Given the description of an element on the screen output the (x, y) to click on. 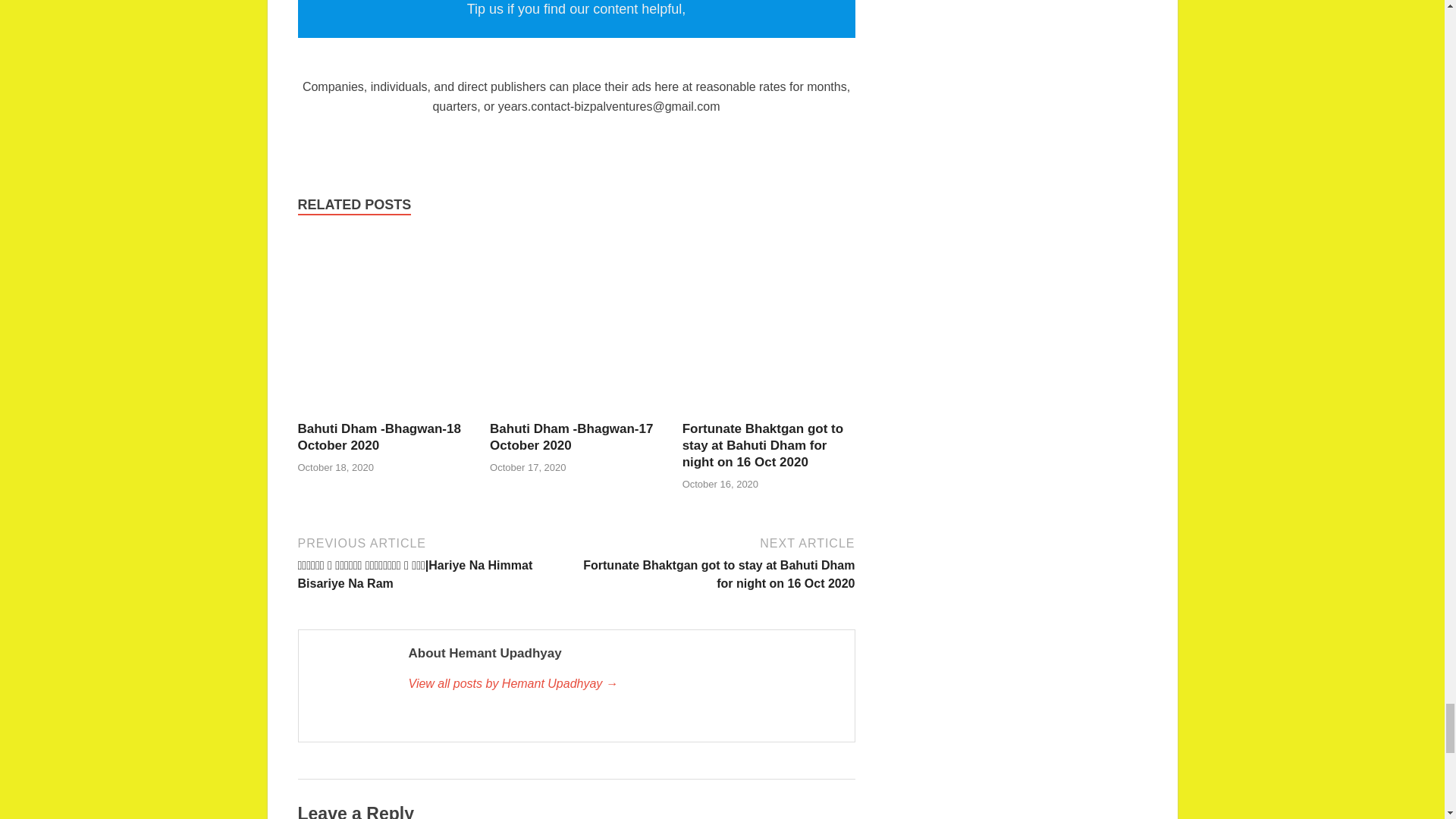
Bahuti Dham -Bhagwan-17 October 2020 (575, 410)
Bahuti Dham -Bhagwan-18 October 2020 (378, 436)
Bahuti Dham -Bhagwan-18 October 2020 (383, 410)
Bahuti Dham -Bhagwan-17 October 2020 (570, 436)
Hemant Upadhyay (622, 683)
